Given the description of an element on the screen output the (x, y) to click on. 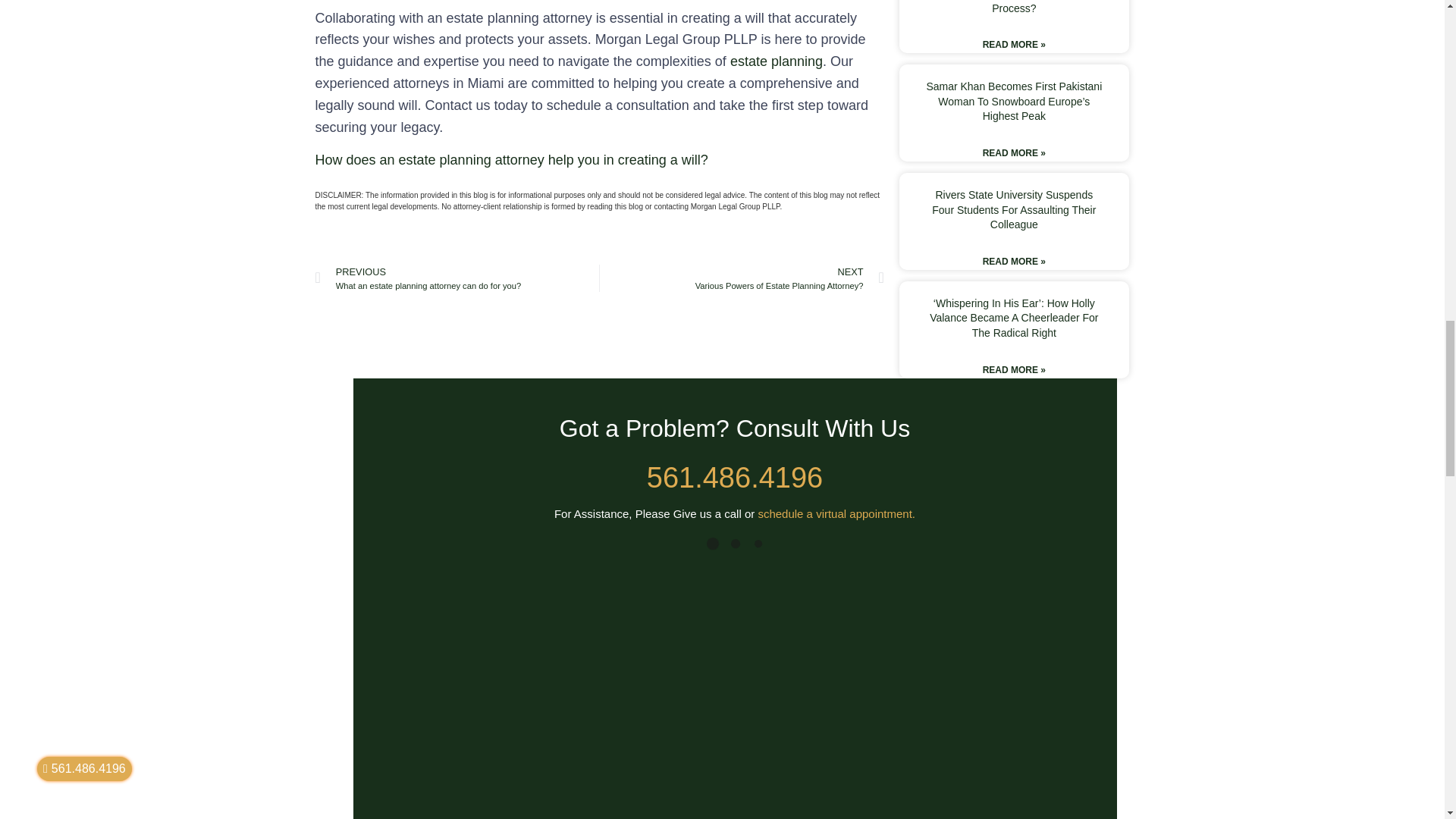
estate planning (776, 61)
